Given the description of an element on the screen output the (x, y) to click on. 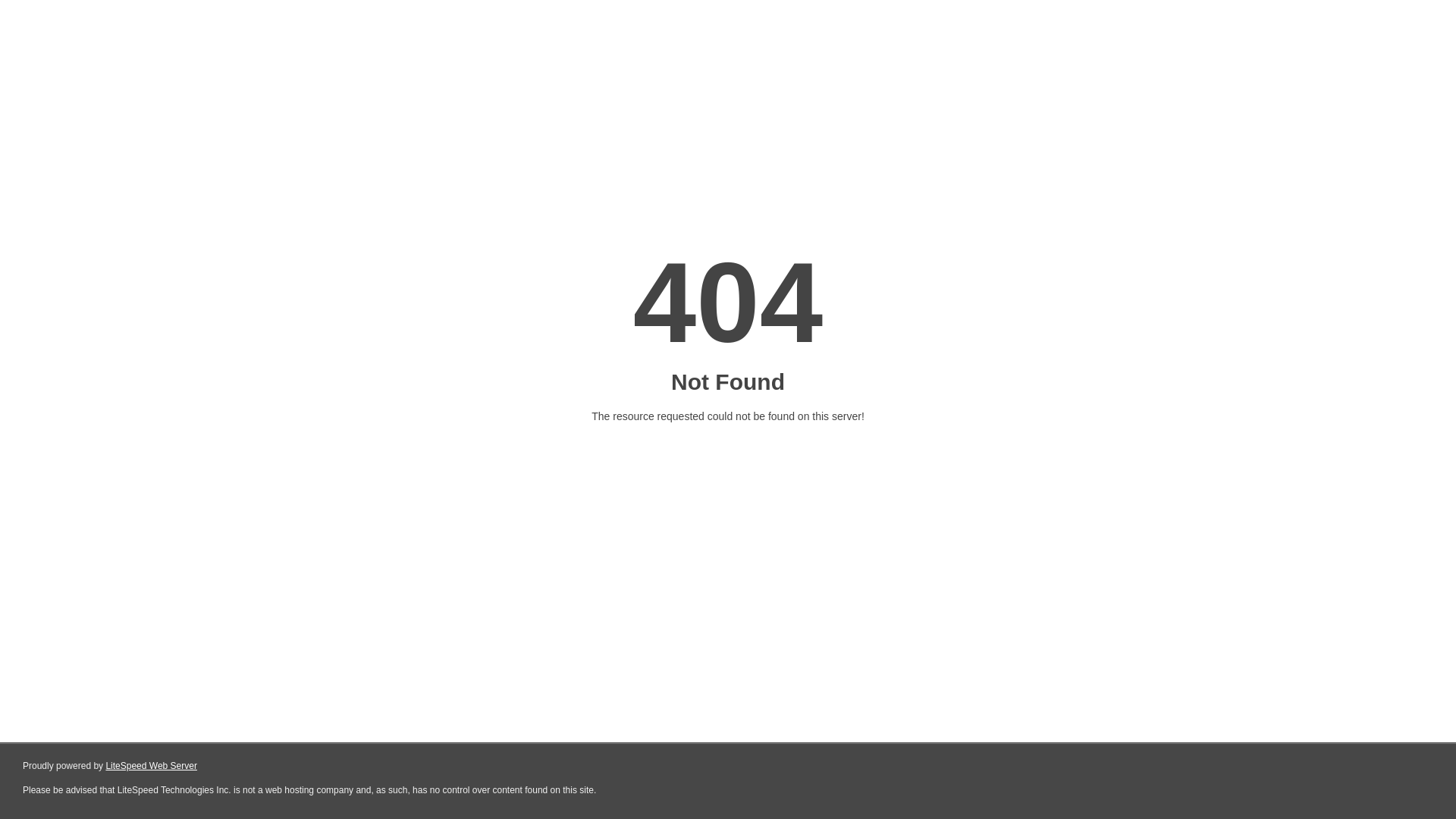
LiteSpeed Web Server Element type: text (151, 765)
